Given the description of an element on the screen output the (x, y) to click on. 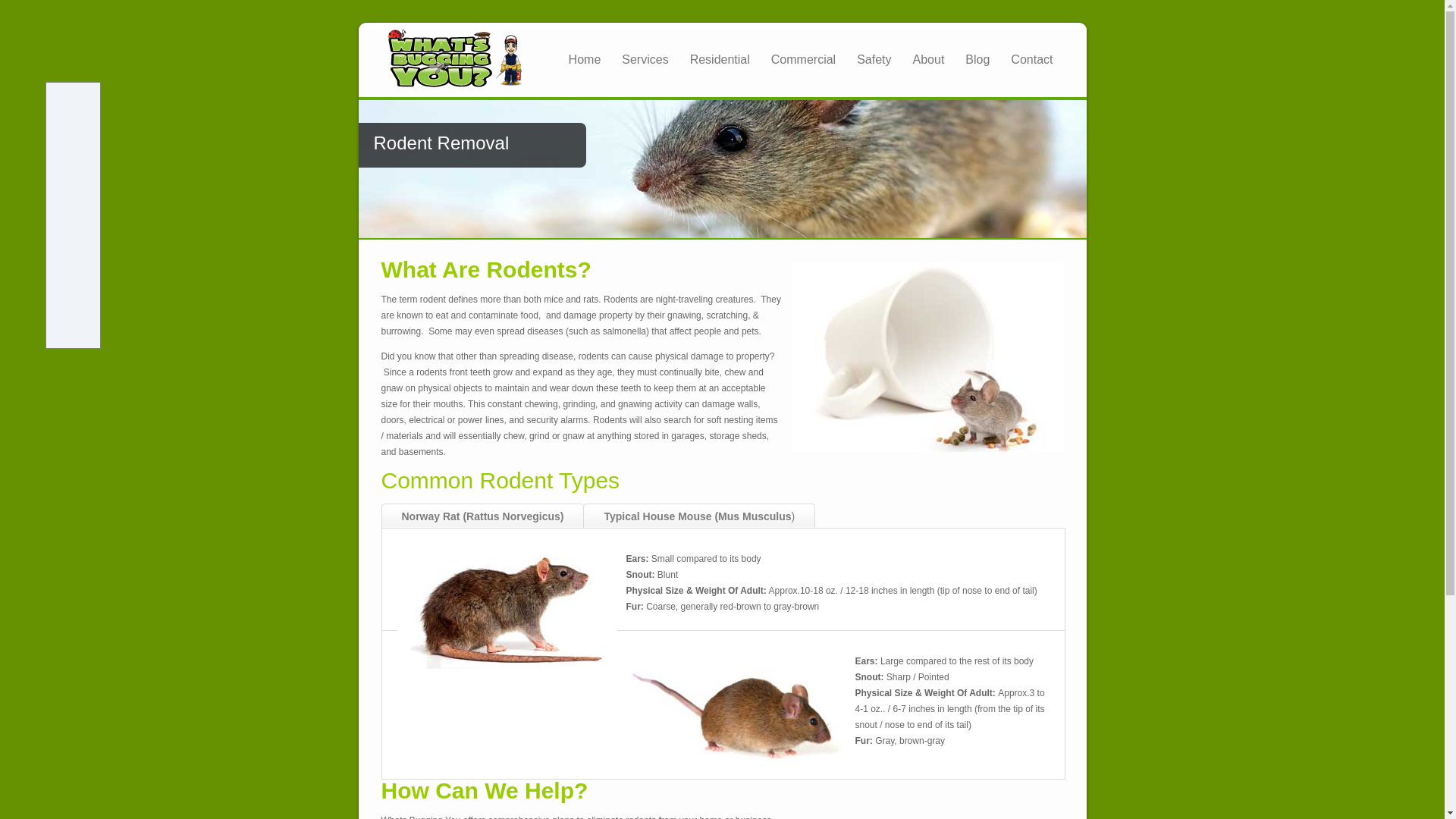
Safety (873, 59)
Services (644, 59)
NorwayRat (507, 612)
Contact (1031, 59)
Residential (719, 59)
Home (584, 59)
About (928, 59)
Rodent (926, 357)
Blog (977, 59)
HouseMouse (735, 714)
